Given the description of an element on the screen output the (x, y) to click on. 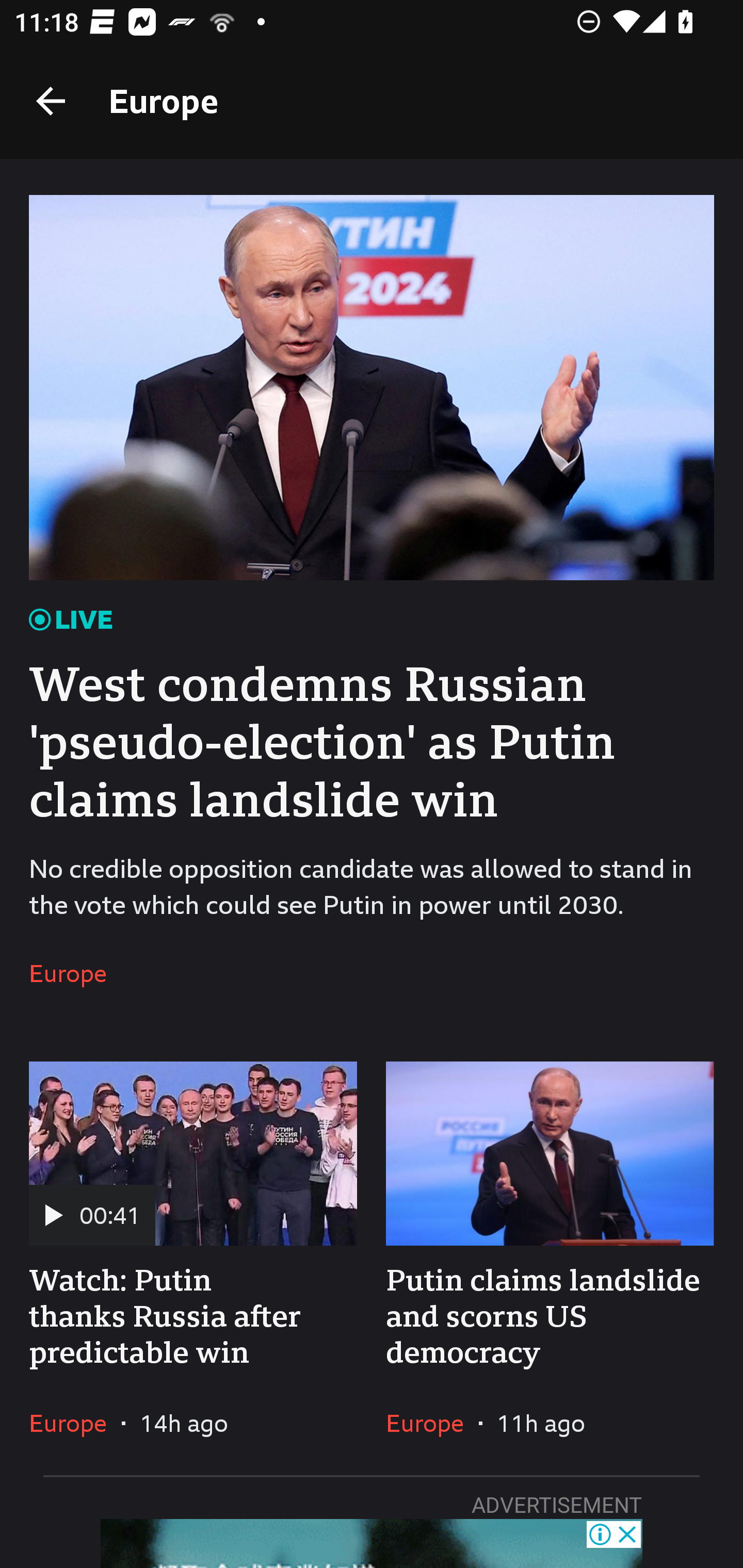
Back (50, 101)
Europe In the section Europe (74, 973)
Europe In the section Europe (74, 1422)
Europe In the section Europe (431, 1422)
